Given the description of an element on the screen output the (x, y) to click on. 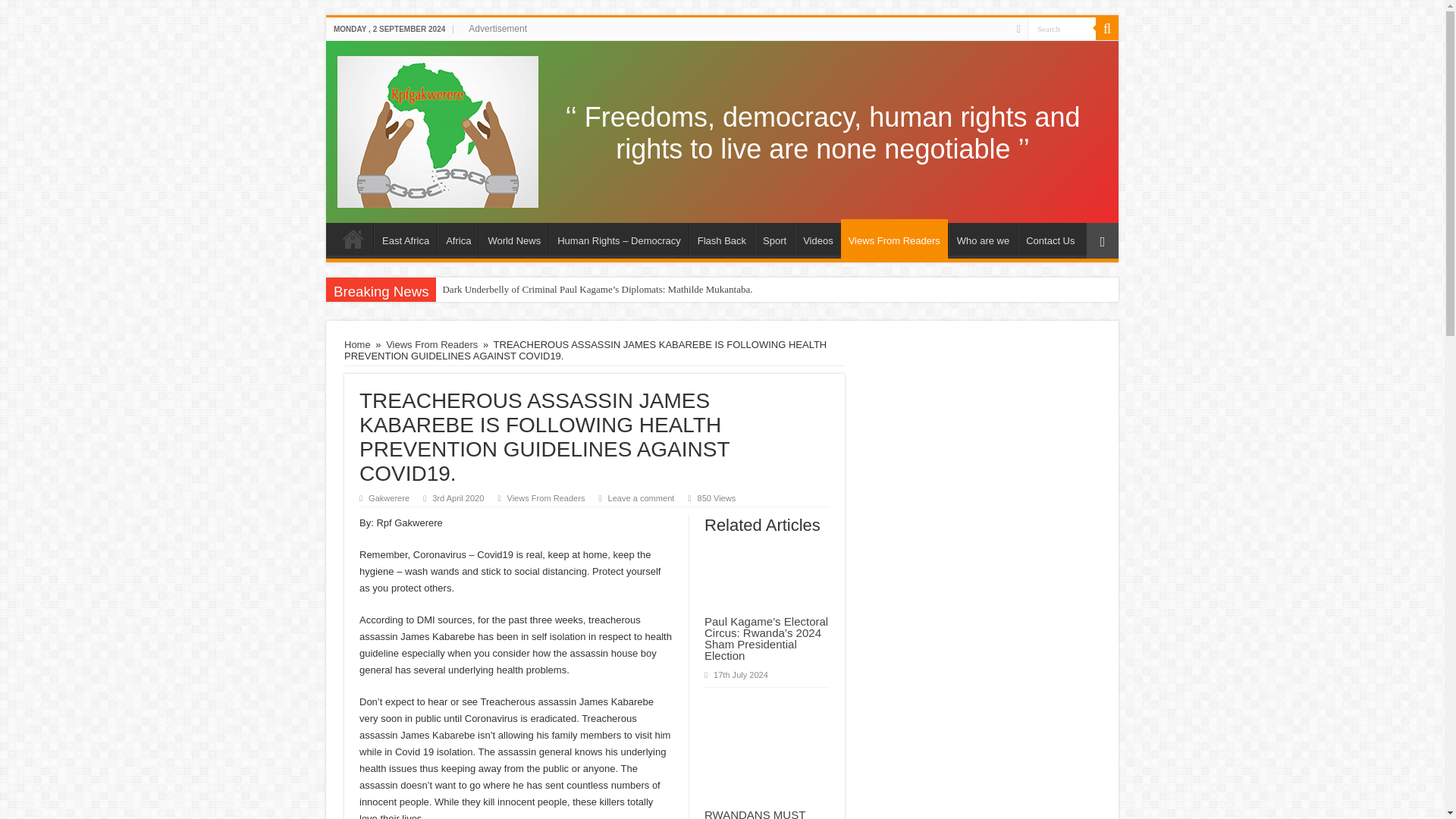
Search (1107, 28)
Africa (458, 238)
Flash Back (721, 238)
Africa (437, 128)
Home (352, 238)
Views From Readers (431, 344)
Who are we (982, 238)
Views From Readers (545, 497)
Search (1061, 28)
